Given the description of an element on the screen output the (x, y) to click on. 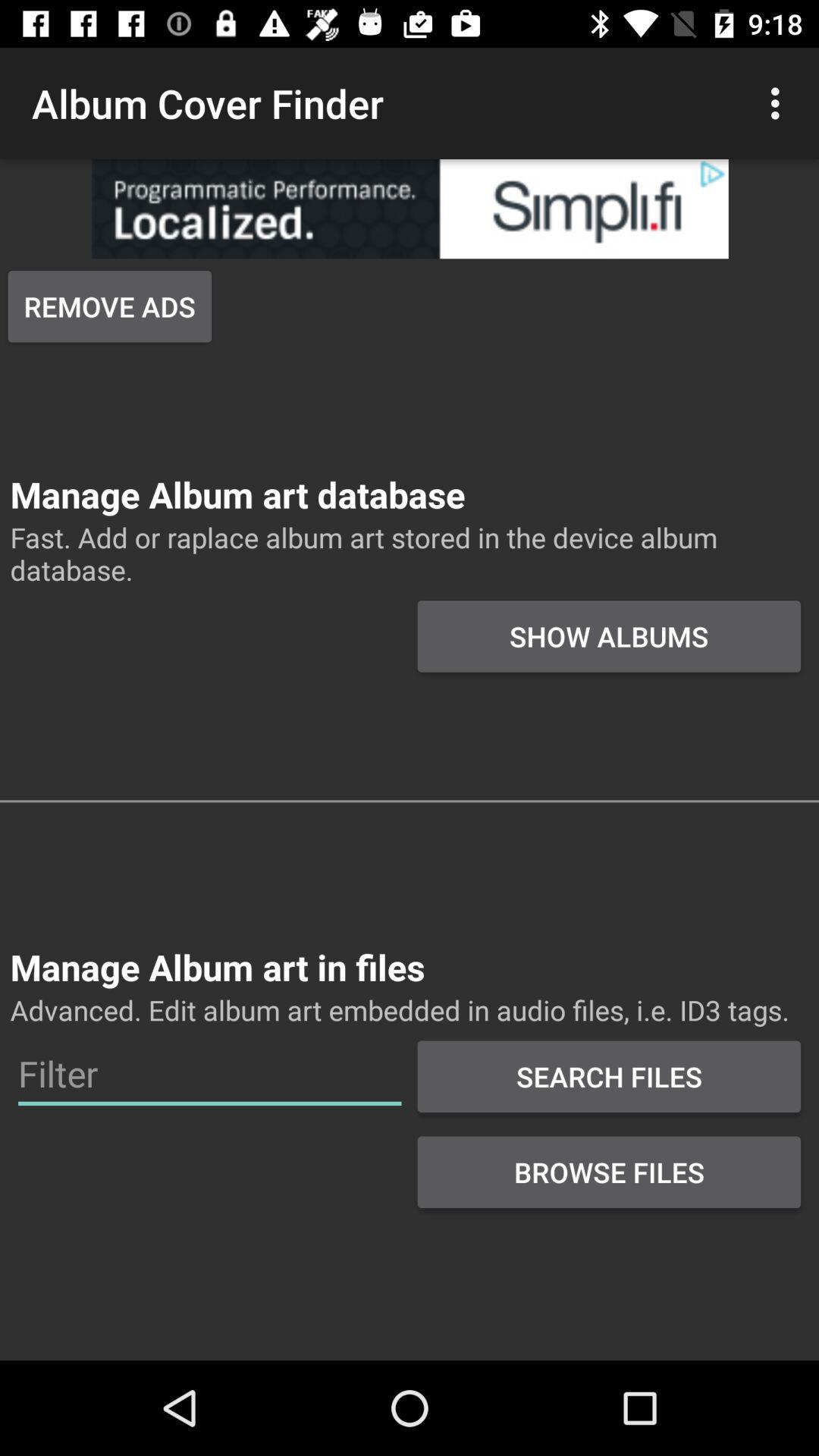
filter album (209, 1074)
